Given the description of an element on the screen output the (x, y) to click on. 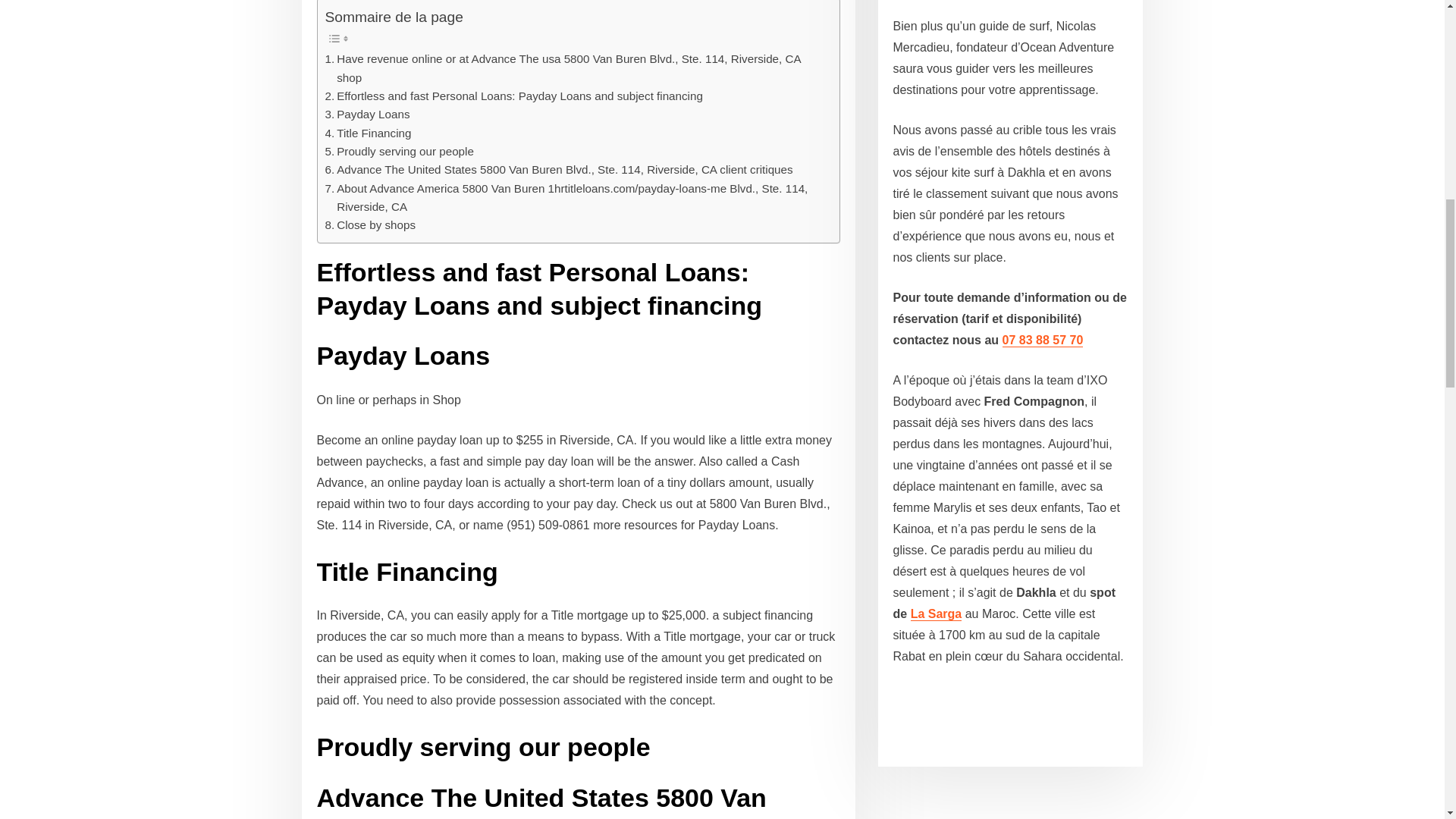
La Sarga (936, 613)
Payday Loans (366, 114)
Title Financing (367, 133)
Proudly serving our people (398, 151)
Proudly serving our people (398, 151)
Payday Loans (366, 114)
Close by shops (369, 225)
